Given the description of an element on the screen output the (x, y) to click on. 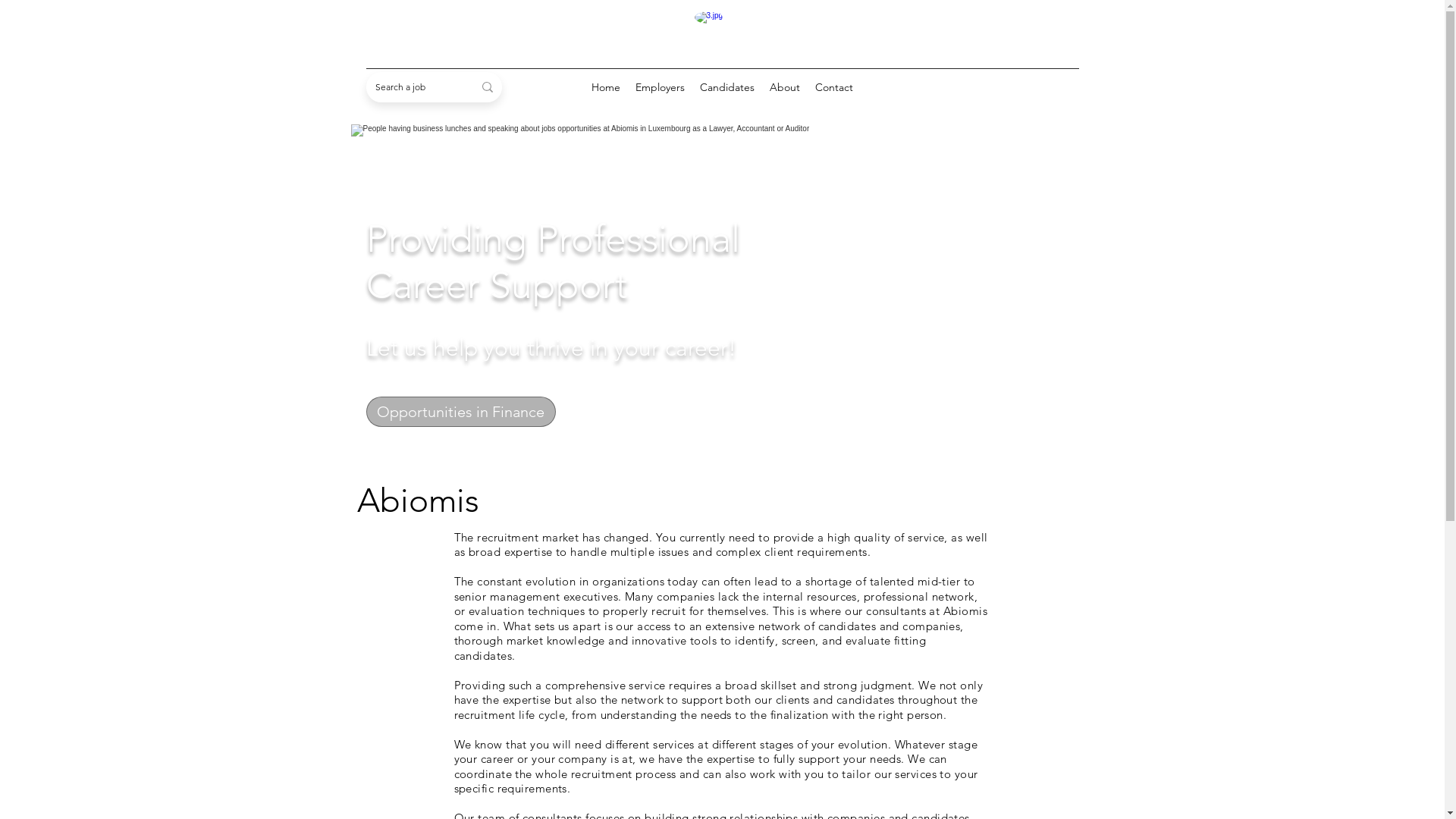
Candidates Element type: text (727, 86)
Employers Element type: text (659, 86)
Contact Element type: text (833, 86)
Opportunities in Finance Element type: text (460, 410)
Home Element type: text (605, 86)
About Element type: text (784, 86)
